Given the description of an element on the screen output the (x, y) to click on. 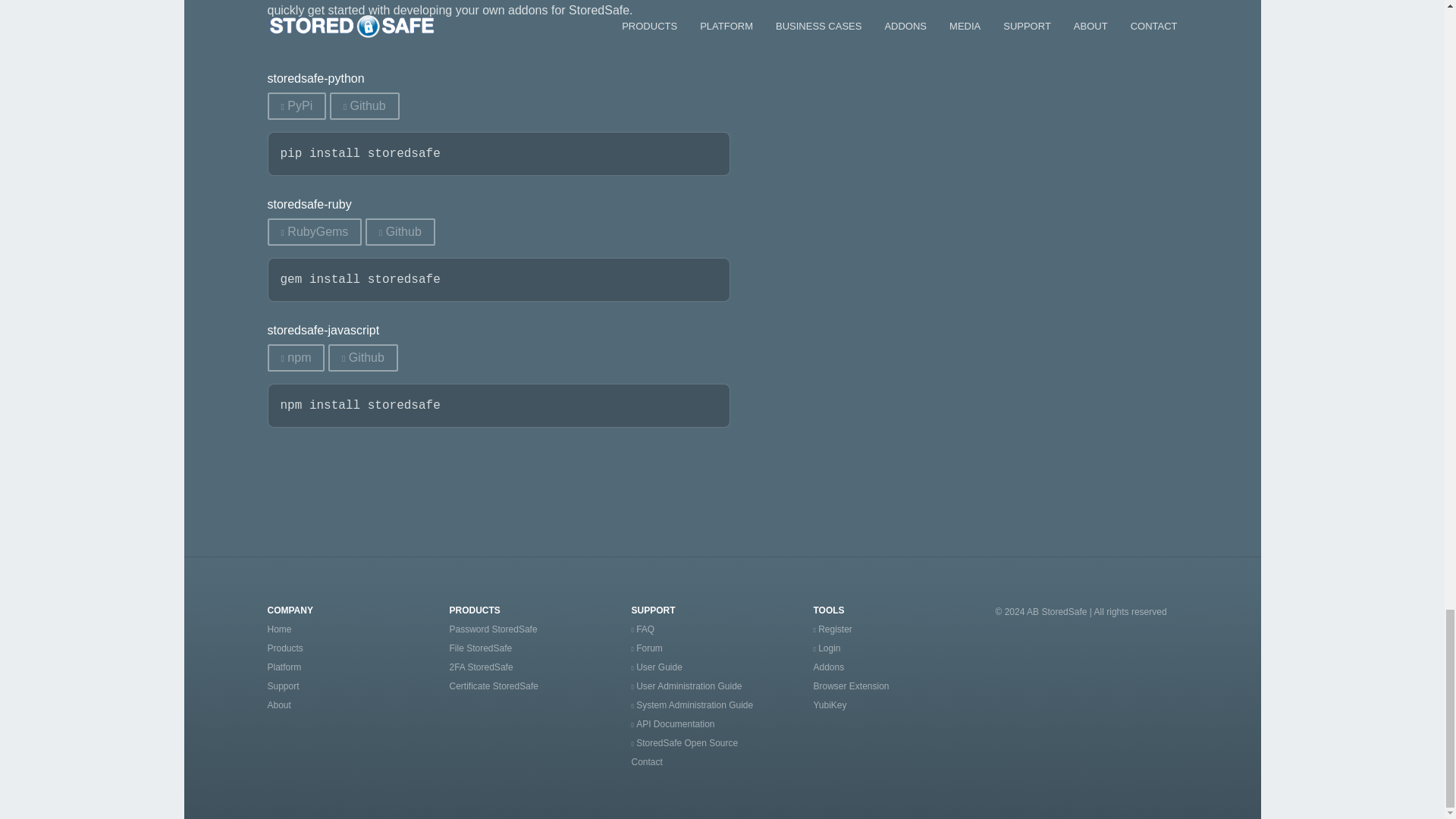
Github (364, 105)
npm (295, 357)
About (277, 705)
PyPi (296, 105)
Home (278, 629)
Platform (283, 666)
Password StoredSafe (492, 629)
Github (400, 231)
Github (363, 357)
Products (284, 647)
File StoredSafe (480, 647)
2FA StoredSafe (480, 666)
Support (282, 685)
RubyGems (313, 231)
Certificate StoredSafe (492, 685)
